Given the description of an element on the screen output the (x, y) to click on. 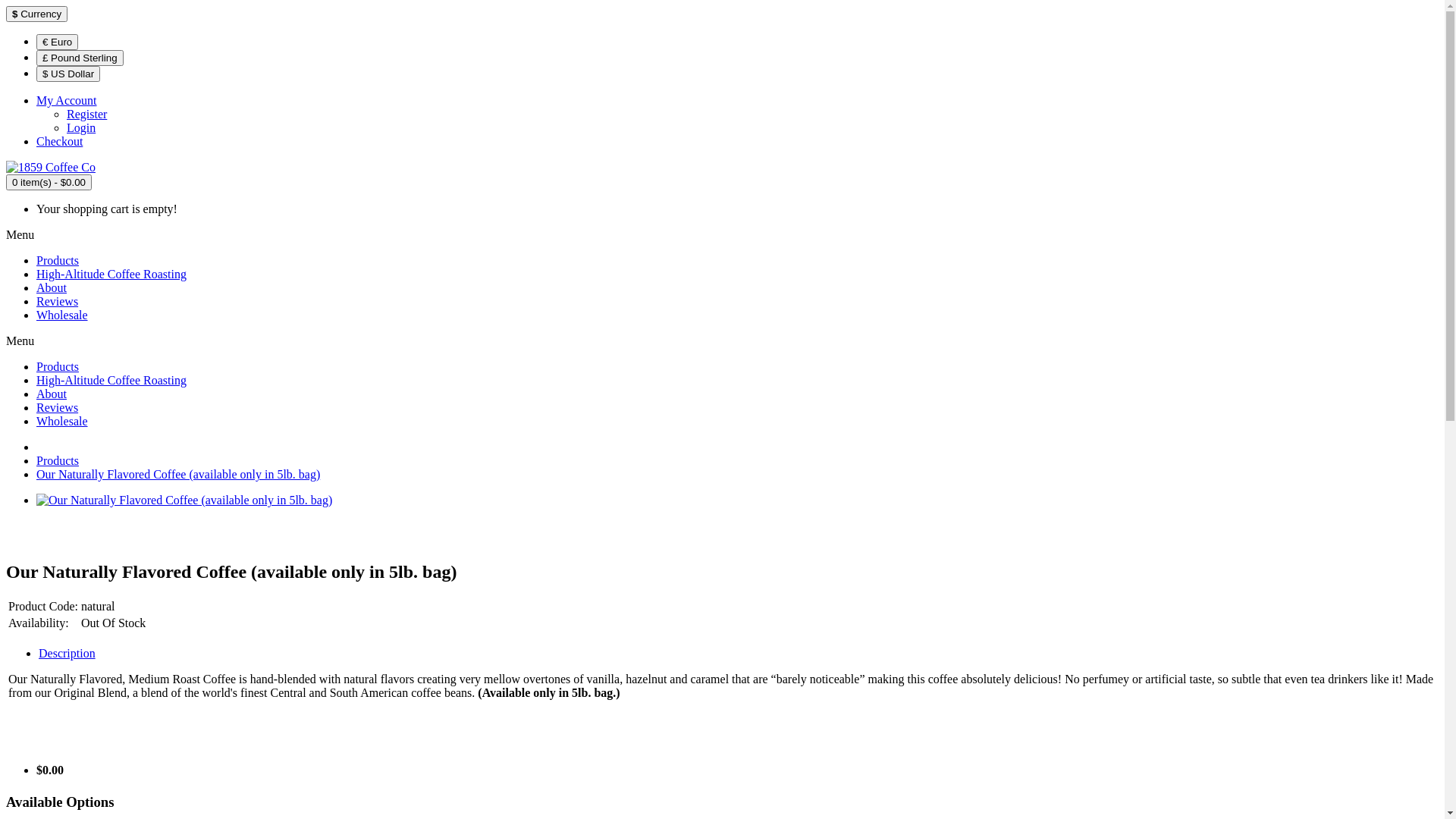
Reviews Element type: text (57, 300)
Wholesale Element type: text (61, 420)
Products Element type: text (57, 366)
Reviews Element type: text (57, 407)
0 item(s) - $0.00 Element type: text (48, 182)
Description Element type: text (66, 652)
About Element type: text (51, 393)
Products Element type: text (57, 260)
1859 Coffee Co Element type: hover (50, 167)
My Account Element type: text (66, 100)
High-Altitude Coffee Roasting Element type: text (111, 379)
$ US Dollar Element type: text (68, 73)
Our Naturally Flavored Coffee (available only in 5lb. bag) Element type: text (178, 473)
Wholesale Element type: text (61, 314)
Products Element type: text (57, 460)
High-Altitude Coffee Roasting Element type: text (111, 273)
Login Element type: text (80, 127)
Register Element type: text (86, 113)
About Element type: text (51, 287)
Checkout Element type: text (59, 140)
$ Currency Element type: text (36, 13)
